Given the description of an element on the screen output the (x, y) to click on. 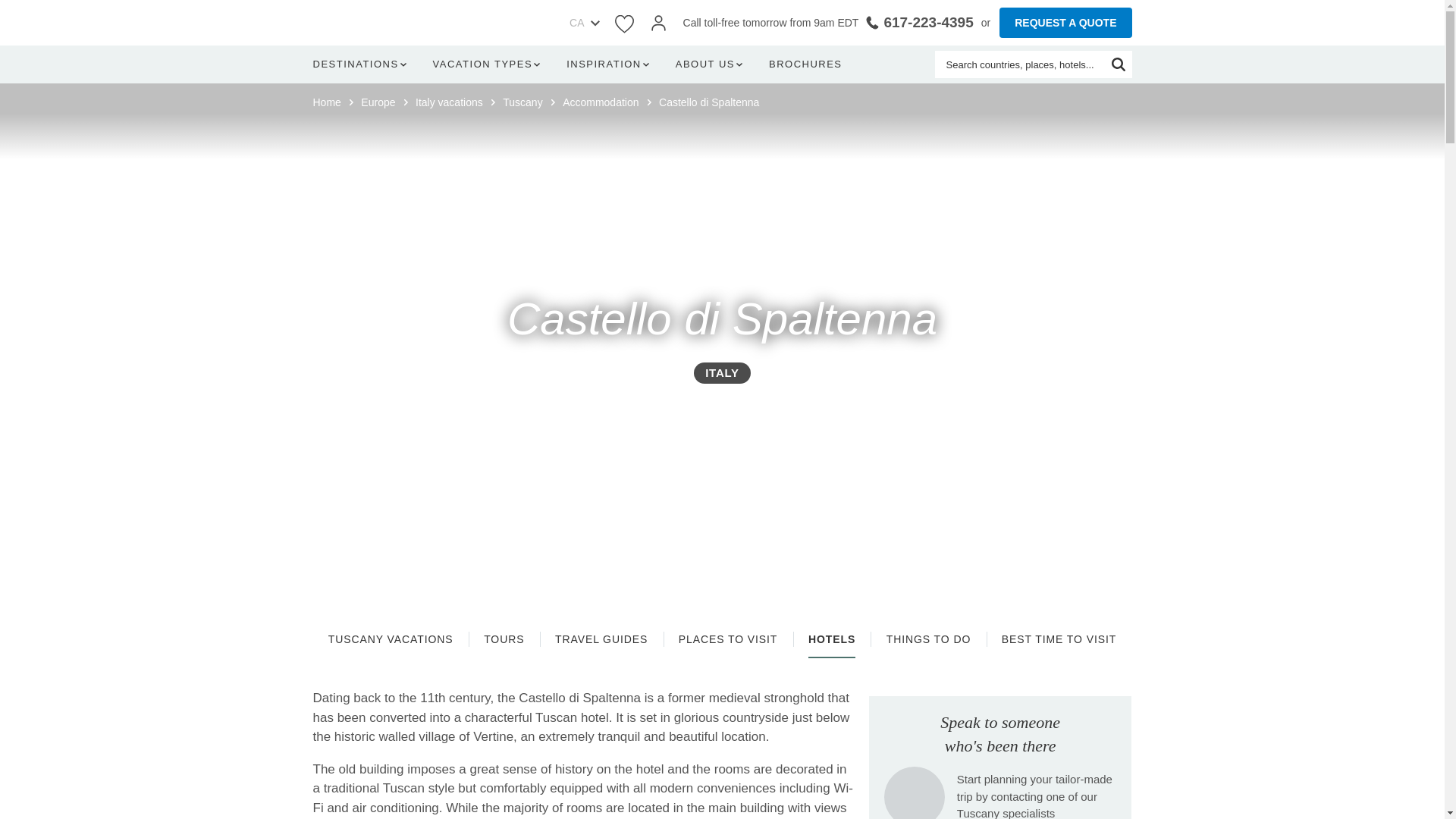
DESTINATIONS (363, 64)
REQUEST A QUOTE (1064, 22)
CA (572, 22)
